Given the description of an element on the screen output the (x, y) to click on. 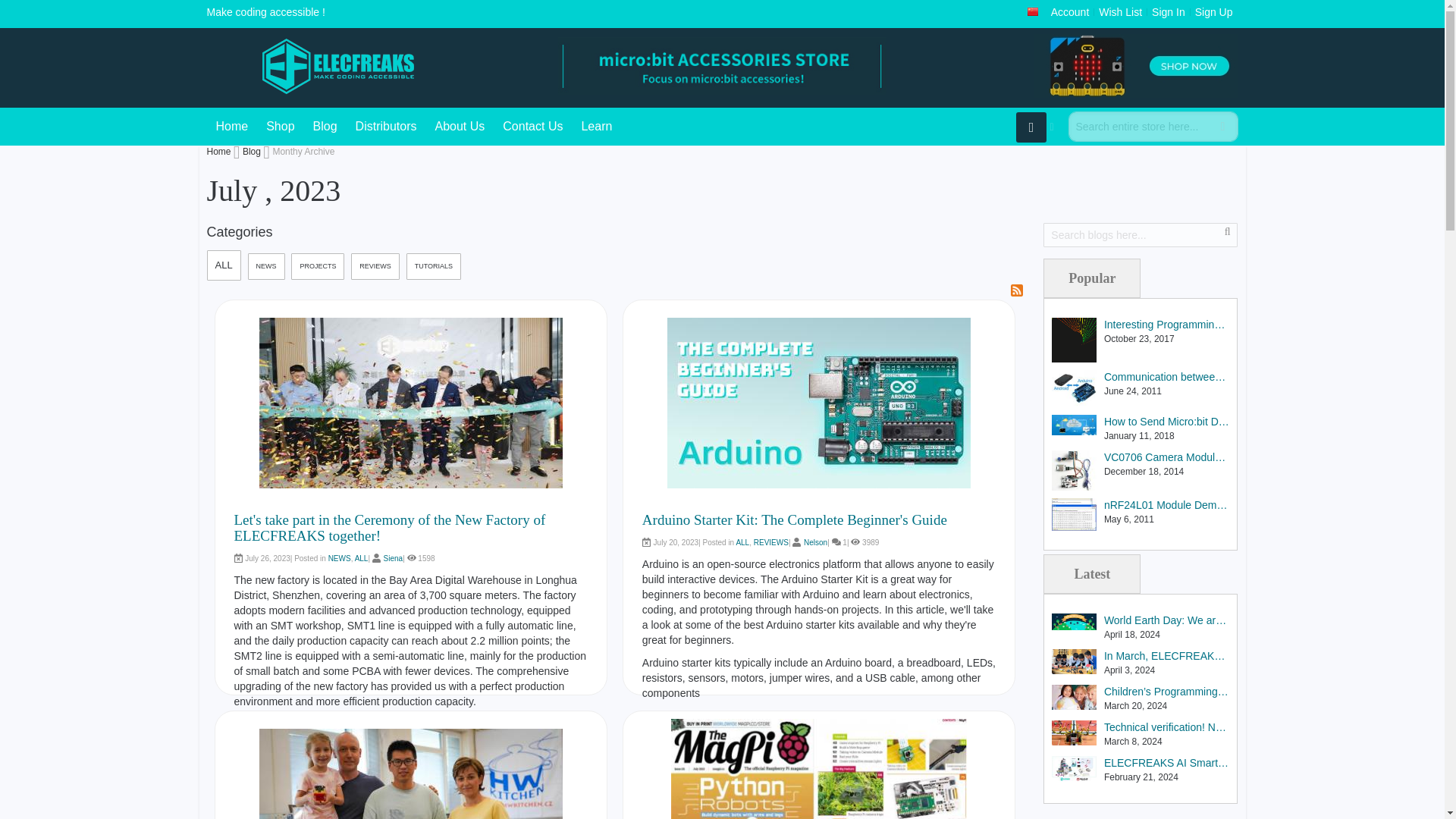
Contact Us (532, 126)
About Us (460, 126)
Home (231, 126)
REVIEWS (374, 266)
Arduino Starter Kit: The Complete Beginner's Guide (794, 519)
Siena (393, 558)
REVIEWS (771, 542)
Read More (668, 715)
Make coding accessible ! (319, 66)
Arduino Starter Kit: The Complete Beginner's Guide (794, 519)
Shop (279, 126)
Nelson (815, 542)
shop (279, 126)
Read More (668, 715)
